Given the description of an element on the screen output the (x, y) to click on. 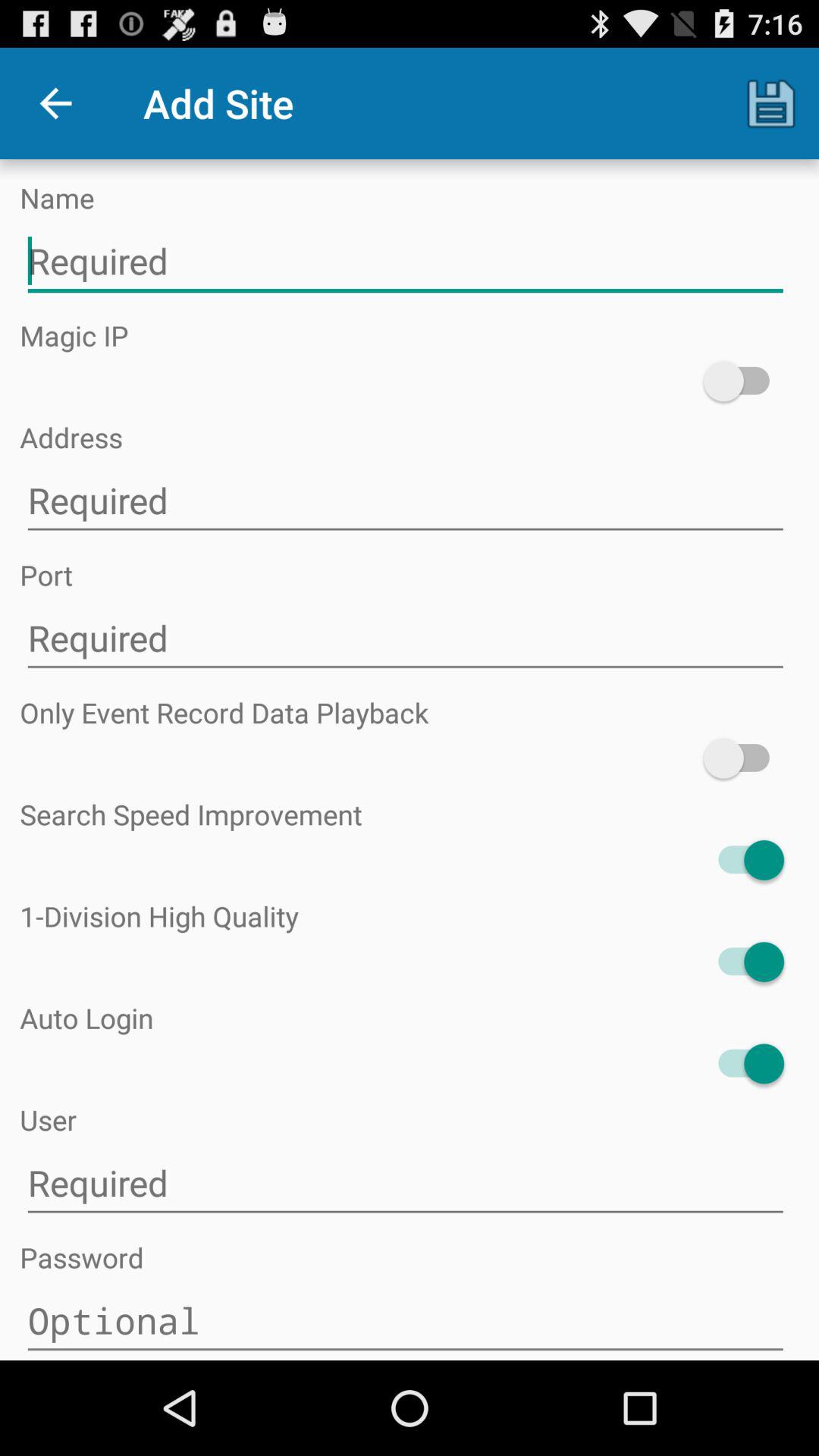
type name (405, 261)
